Given the description of an element on the screen output the (x, y) to click on. 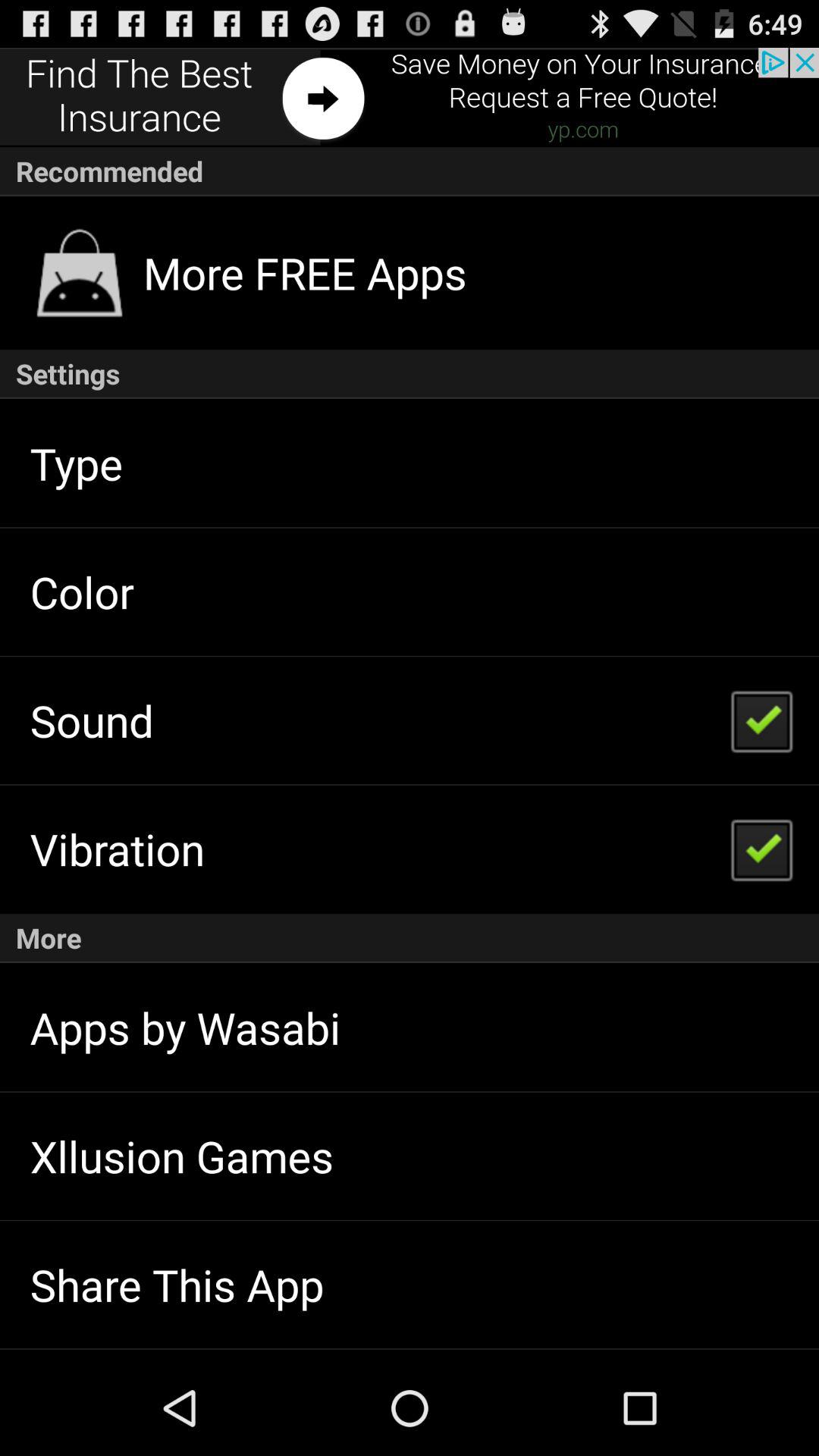
close the add (409, 97)
